Given the description of an element on the screen output the (x, y) to click on. 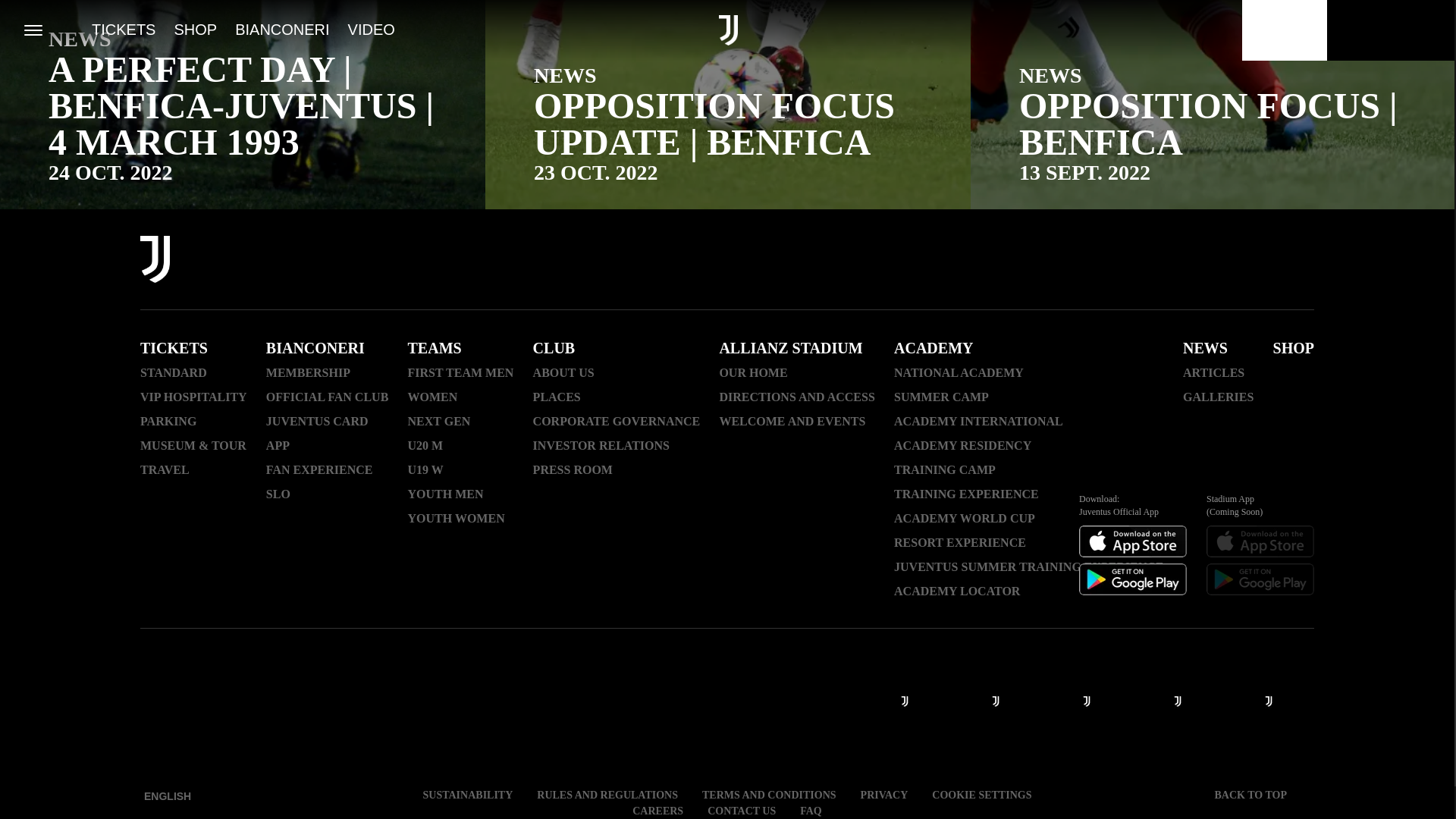
Instagram (1064, 261)
Threads (1104, 261)
Youtube (1144, 261)
Link To Homepage (154, 260)
Facebook (1025, 261)
